Given the description of an element on the screen output the (x, y) to click on. 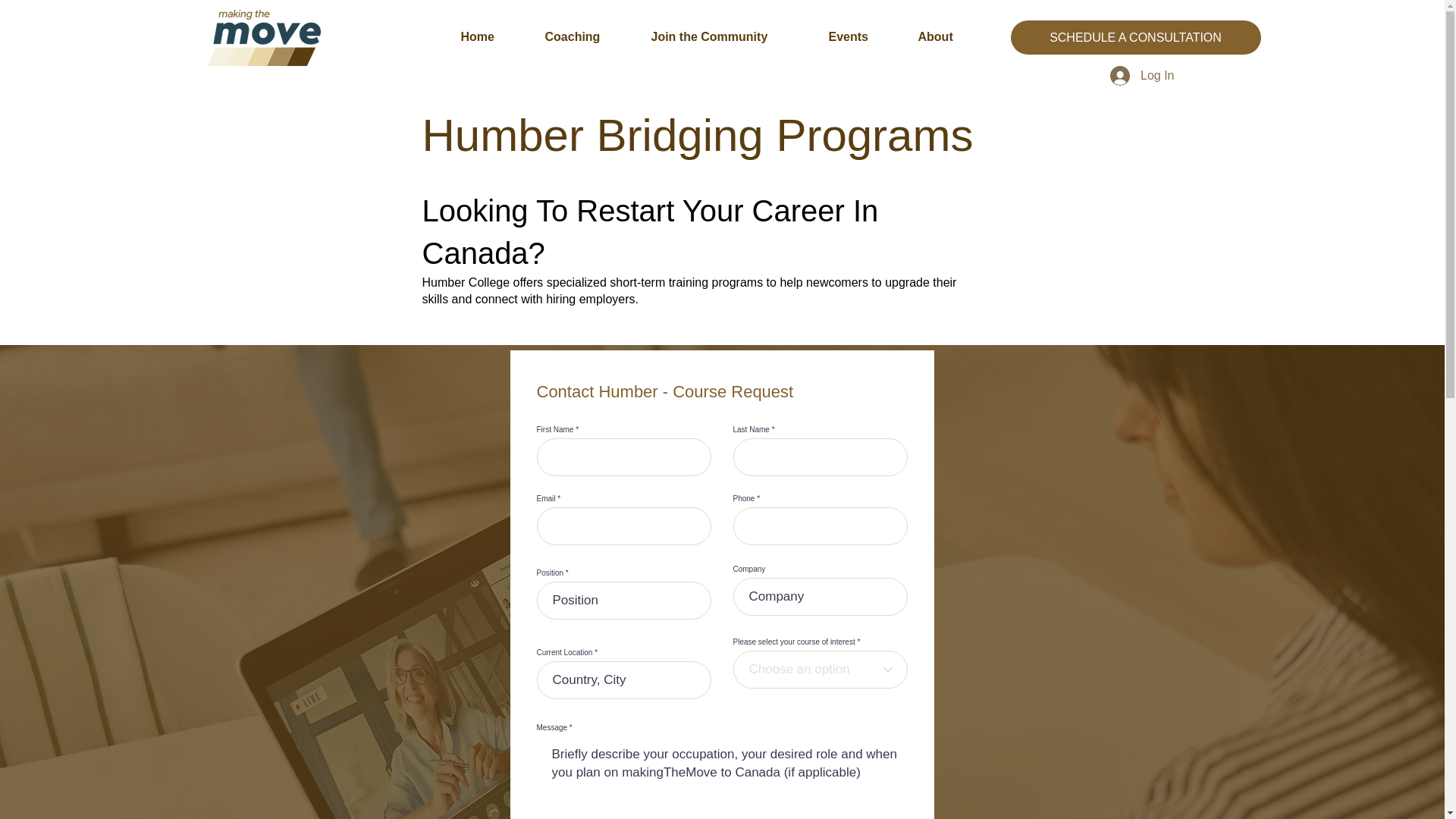
Coaching (587, 37)
Events (861, 37)
SCHEDULE A CONSULTATION (1135, 37)
About (949, 37)
Log In (1142, 75)
Join the Community (728, 37)
Home (490, 37)
